Given the description of an element on the screen output the (x, y) to click on. 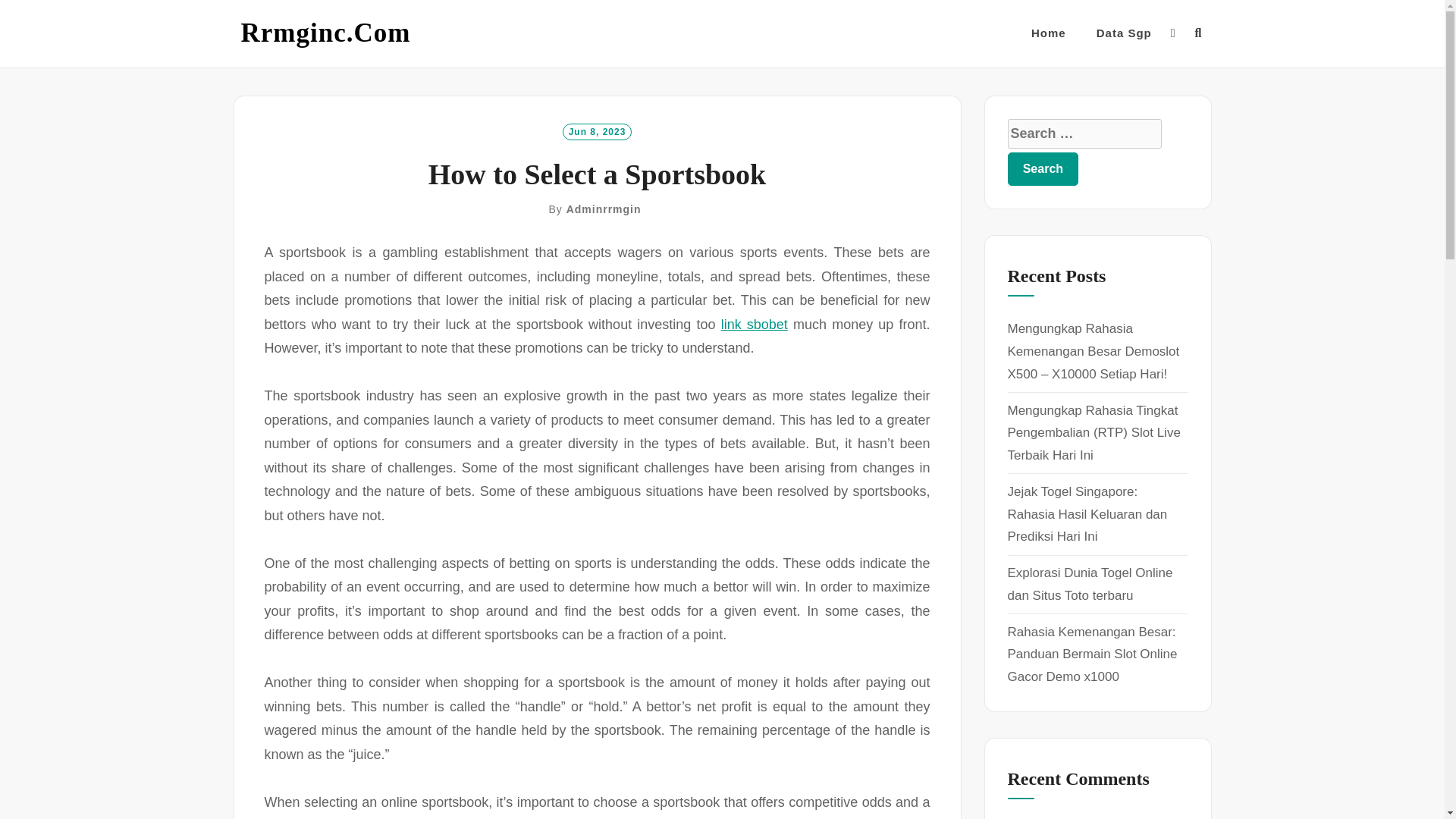
Adminrrmgin (604, 209)
Data Sgp (1123, 33)
link sbobet (753, 324)
Jun 8, 2023 (596, 130)
Rrmginc.Com (325, 33)
Search (1042, 168)
Search (1042, 168)
Explorasi Dunia Togel Online dan Situs Toto terbaru (1089, 583)
Home (1047, 33)
Search (1042, 168)
